Given the description of an element on the screen output the (x, y) to click on. 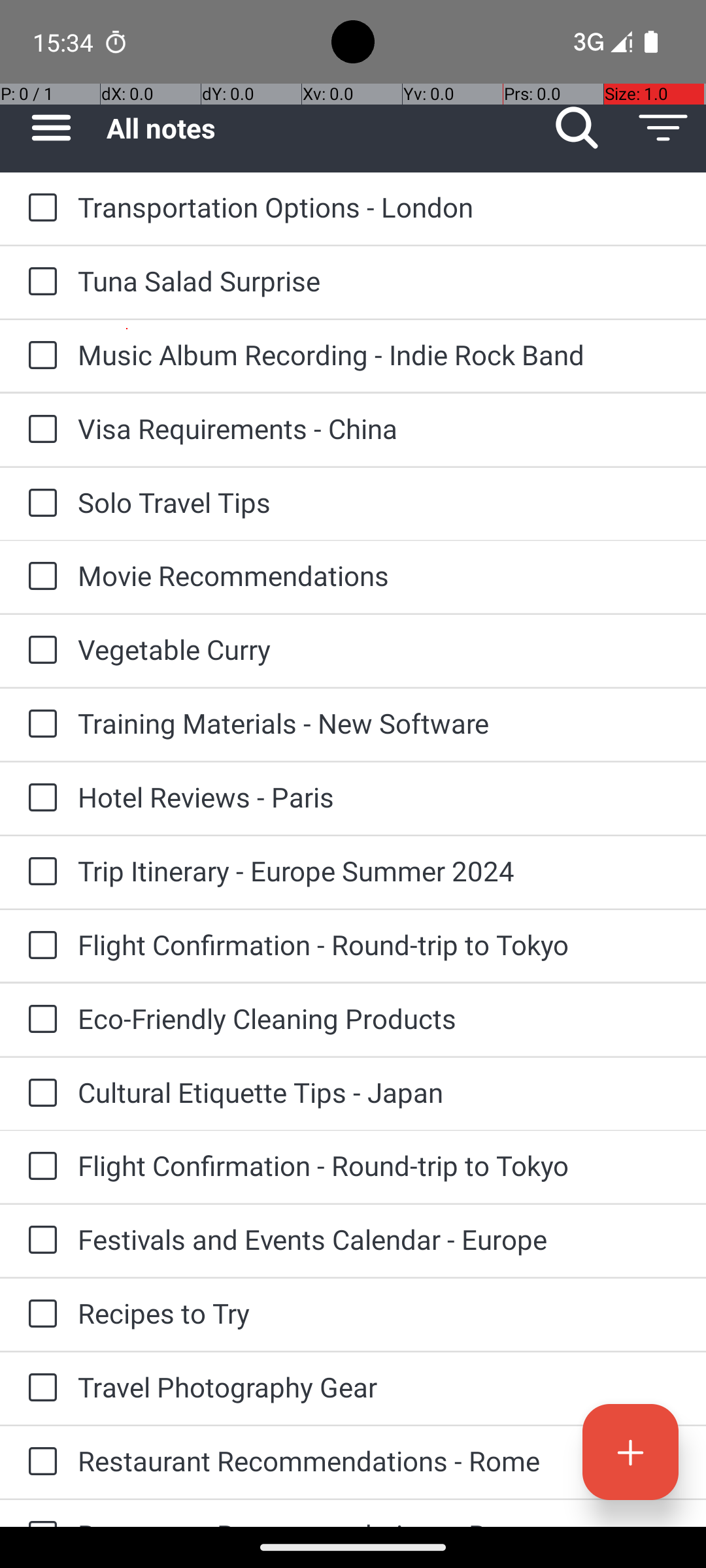
to-do: Transportation Options - London Element type: android.widget.CheckBox (38, 208)
Transportation Options - London Element type: android.widget.TextView (378, 206)
to-do: Tuna Salad Surprise Element type: android.widget.CheckBox (38, 282)
Tuna Salad Surprise Element type: android.widget.TextView (378, 280)
to-do: Visa Requirements - China Element type: android.widget.CheckBox (38, 429)
Visa Requirements - China Element type: android.widget.TextView (378, 427)
to-do: Solo Travel Tips Element type: android.widget.CheckBox (38, 503)
Solo Travel Tips Element type: android.widget.TextView (378, 501)
to-do: Movie Recommendations Element type: android.widget.CheckBox (38, 576)
Movie Recommendations Element type: android.widget.TextView (378, 574)
to-do: Vegetable Curry Element type: android.widget.CheckBox (38, 650)
Vegetable Curry Element type: android.widget.TextView (378, 648)
to-do: Training Materials - New Software Element type: android.widget.CheckBox (38, 724)
Training Materials - New Software Element type: android.widget.TextView (378, 722)
to-do: Hotel Reviews - Paris Element type: android.widget.CheckBox (38, 798)
Hotel Reviews - Paris Element type: android.widget.TextView (378, 796)
to-do: Trip Itinerary - Europe Summer 2024 Element type: android.widget.CheckBox (38, 872)
Trip Itinerary - Europe Summer 2024 Element type: android.widget.TextView (378, 870)
to-do: Flight Confirmation - Round-trip to Tokyo Element type: android.widget.CheckBox (38, 945)
to-do: Eco-Friendly Cleaning Products Element type: android.widget.CheckBox (38, 1019)
to-do: Cultural Etiquette Tips - Japan Element type: android.widget.CheckBox (38, 1093)
Cultural Etiquette Tips - Japan Element type: android.widget.TextView (378, 1091)
to-do: Festivals and Events Calendar - Europe Element type: android.widget.CheckBox (38, 1240)
Festivals and Events Calendar - Europe Element type: android.widget.TextView (378, 1238)
to-do: Recipes to Try Element type: android.widget.CheckBox (38, 1314)
Recipes to Try Element type: android.widget.TextView (378, 1312)
to-do: Travel Photography Gear Element type: android.widget.CheckBox (38, 1388)
Travel Photography Gear Element type: android.widget.TextView (378, 1386)
